Given the description of an element on the screen output the (x, y) to click on. 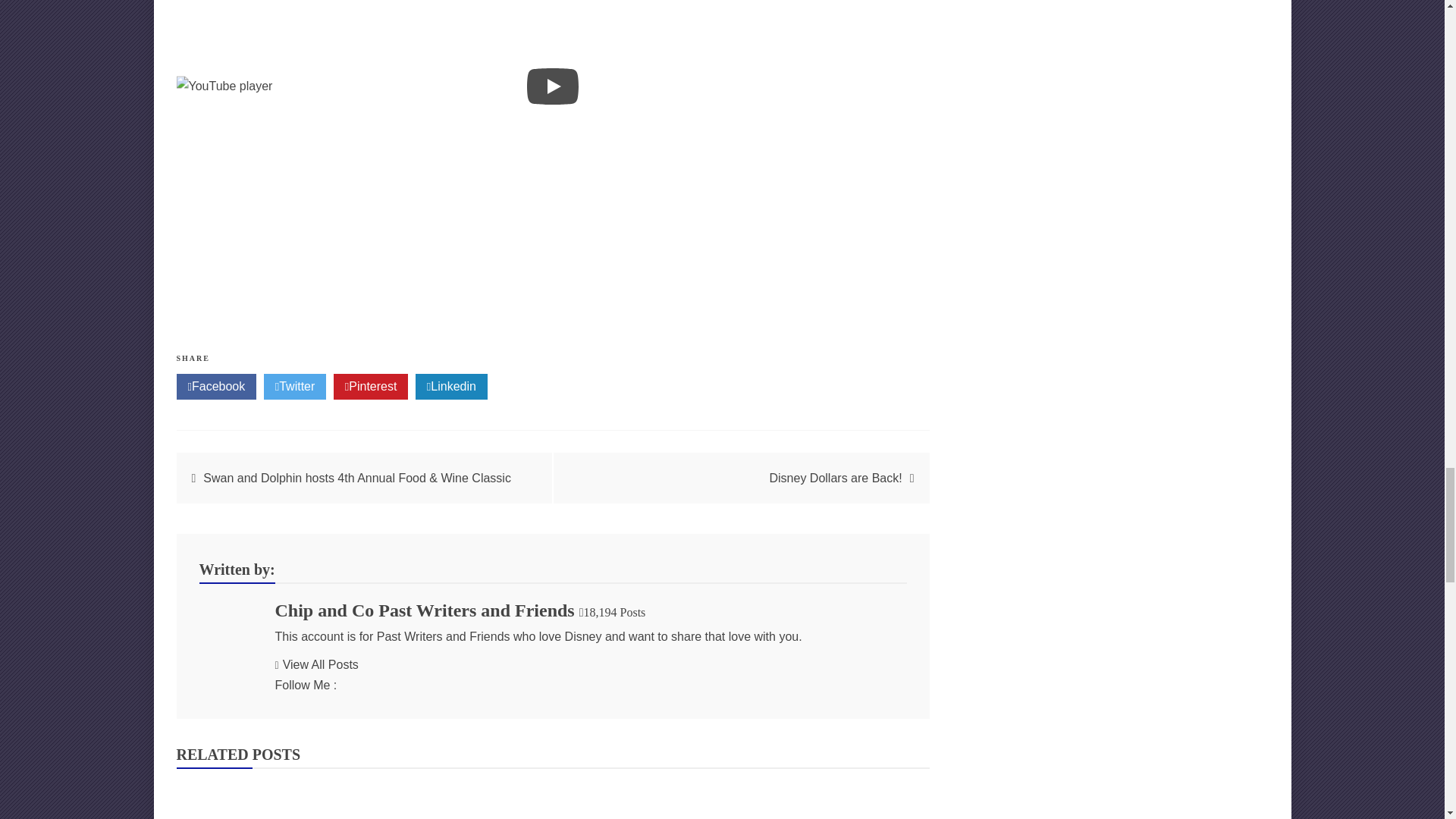
Carousel of Progress Gets Brand-New Retro-Style Seating (552, 799)
Posts by Chip and Co Past Writers and Friends (424, 609)
